Given the description of an element on the screen output the (x, y) to click on. 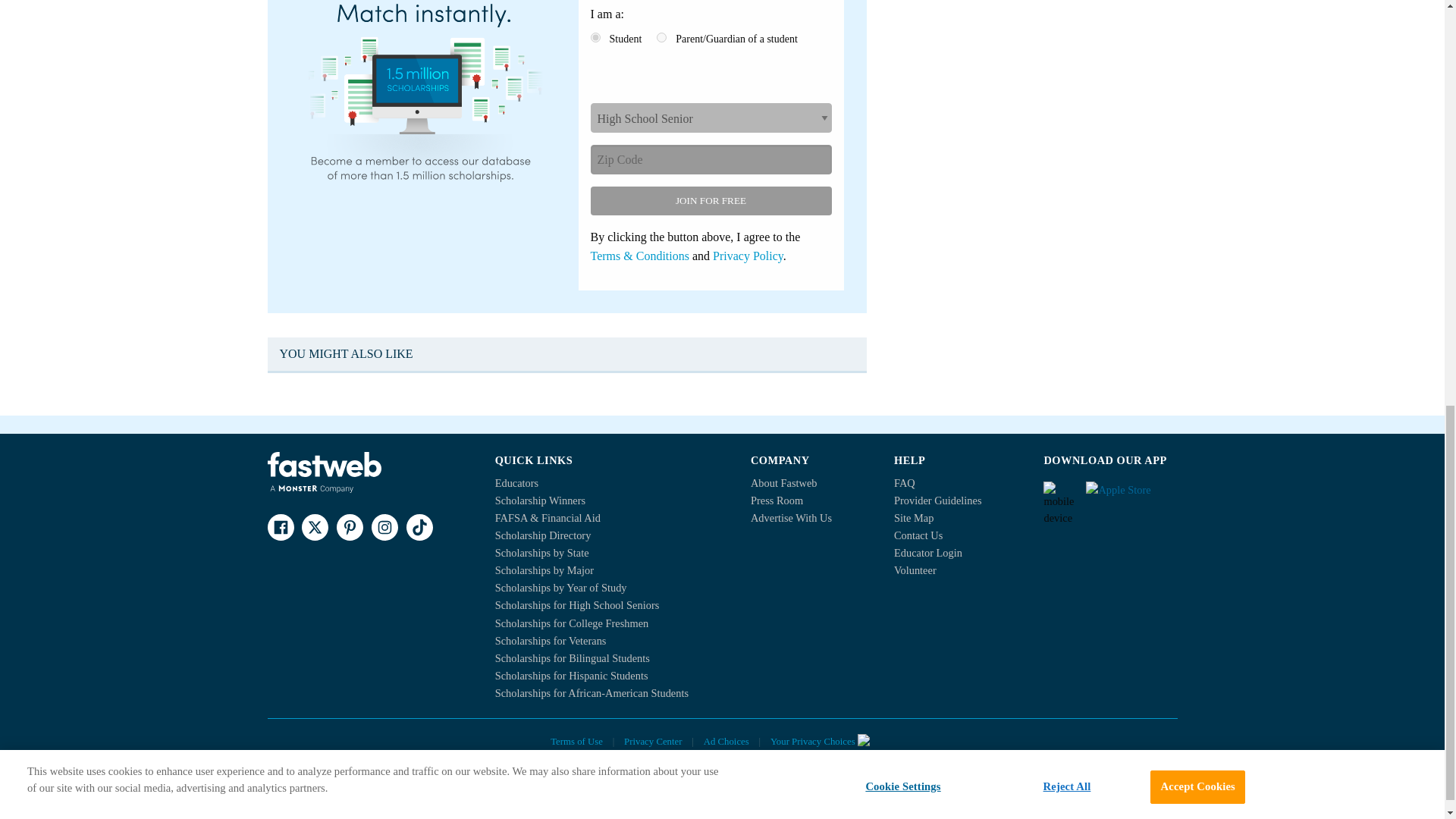
Fastweb on IOS (1131, 494)
Fastweb on Facebook (280, 527)
Fastweb on TikTok (419, 527)
1 (594, 37)
2 (661, 37)
Join for free (710, 200)
Fastweb on Pinterest (349, 527)
Fastweb on Instagram (384, 527)
